Given the description of an element on the screen output the (x, y) to click on. 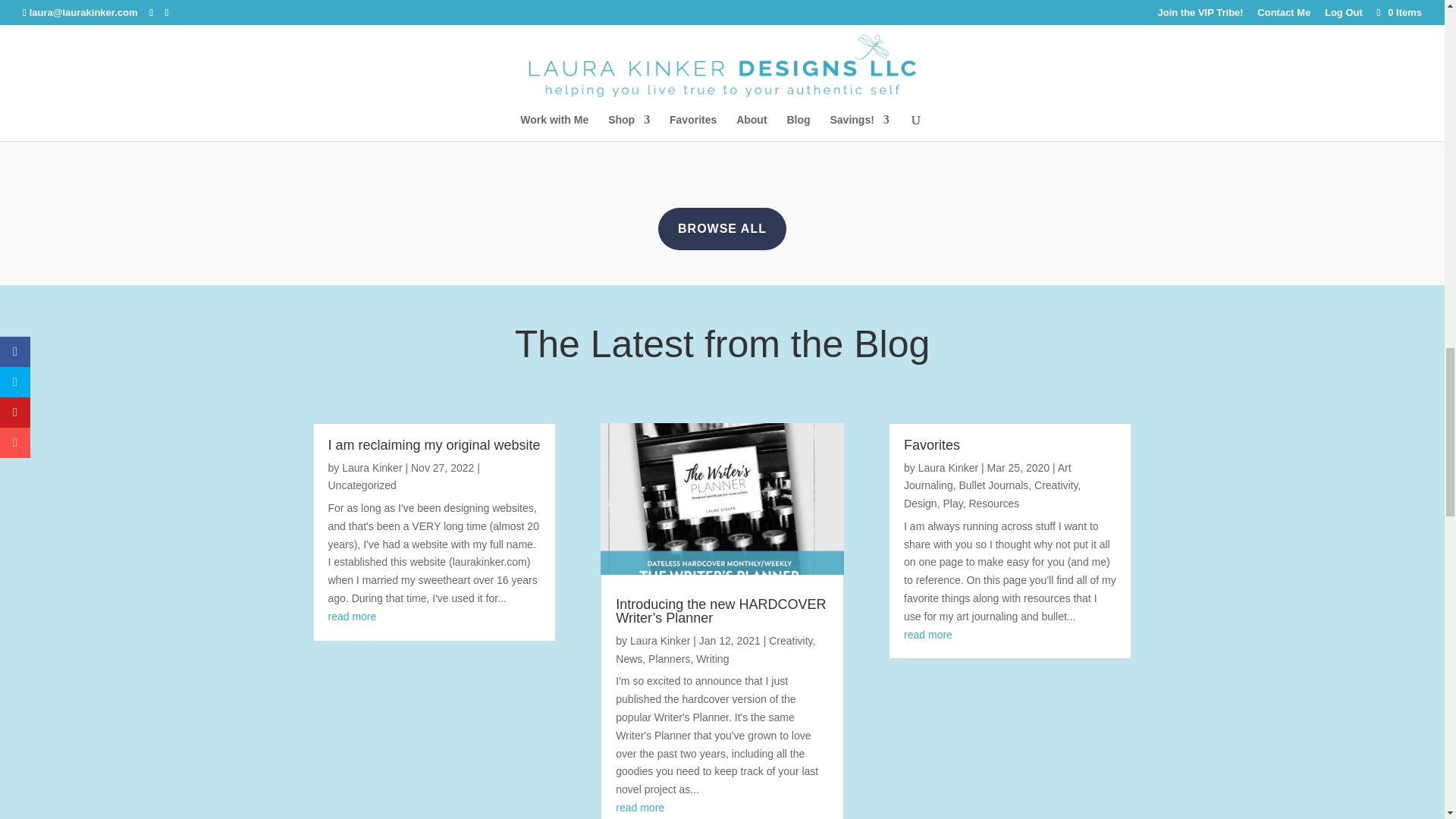
Posts by Laura Kinker (660, 640)
Posts by Laura Kinker (948, 467)
Posts by Laura Kinker (371, 467)
